Given the description of an element on the screen output the (x, y) to click on. 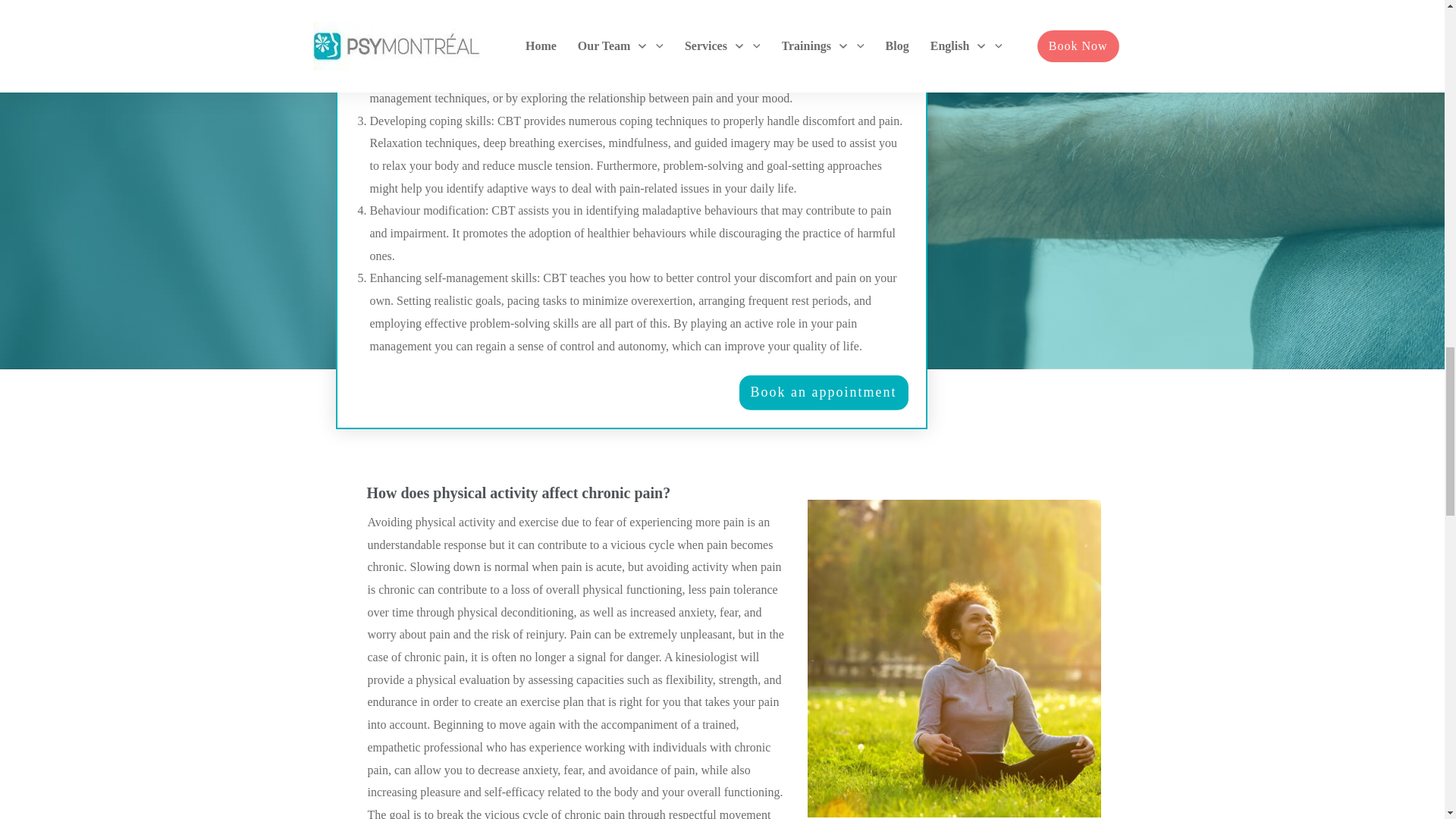
Book an appointment (823, 392)
